Given the description of an element on the screen output the (x, y) to click on. 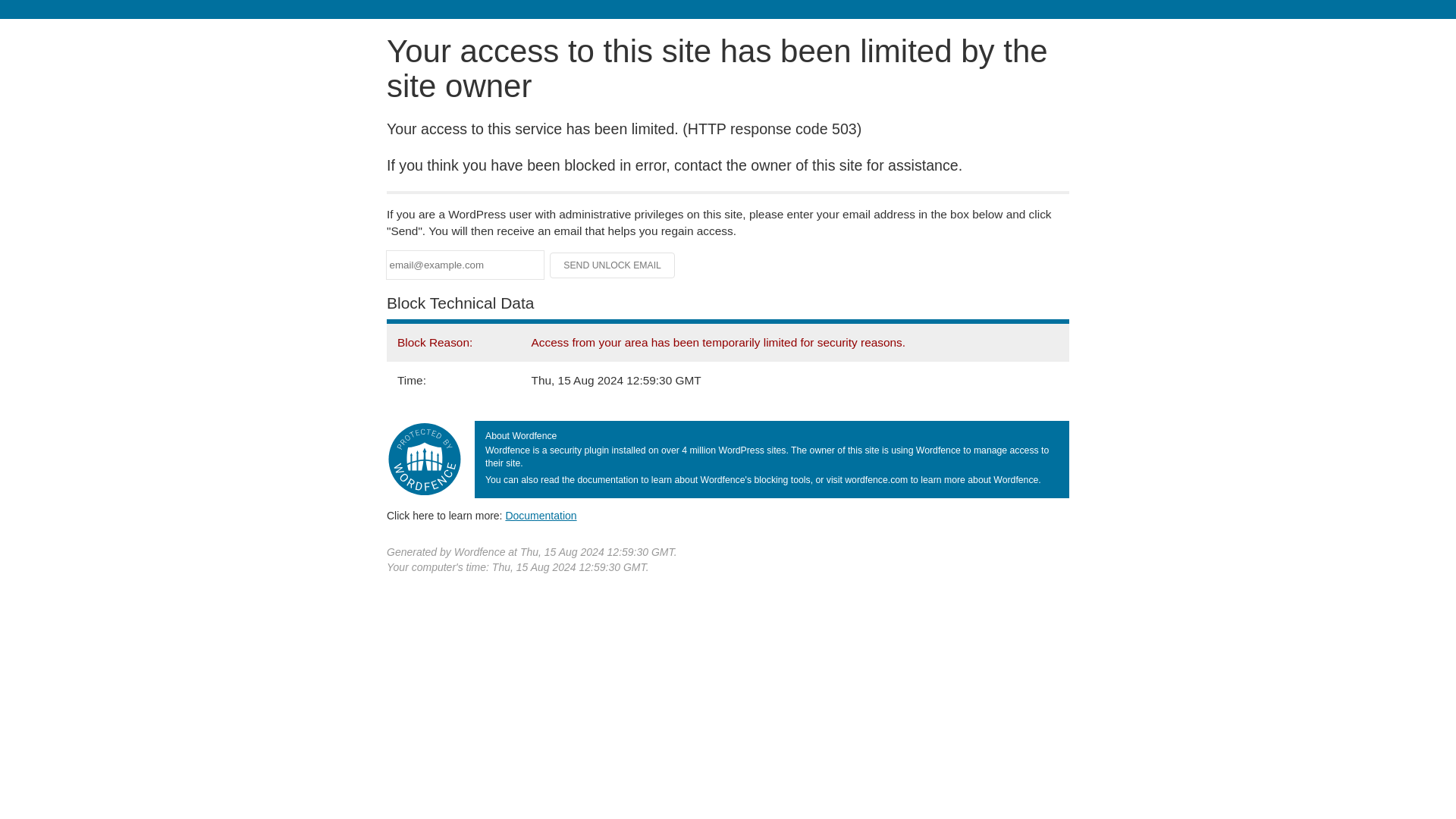
Documentation (540, 515)
Send Unlock Email (612, 265)
Send Unlock Email (612, 265)
